Given the description of an element on the screen output the (x, y) to click on. 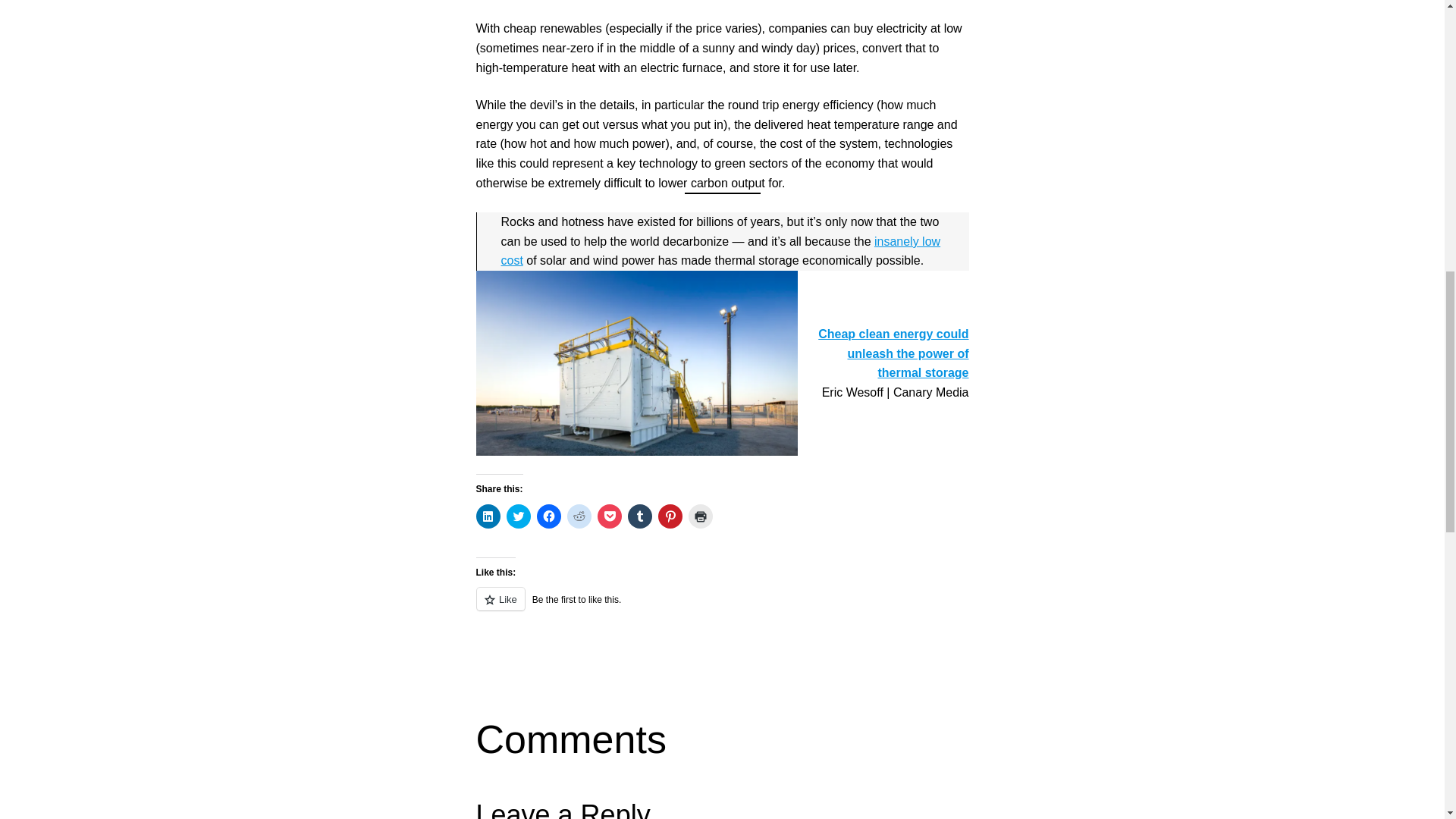
Click to share on Pocket (608, 516)
Click to share on Reddit (579, 516)
insanely low cost (720, 251)
Click to share on LinkedIn (488, 516)
Click to share on Pinterest (670, 516)
Like or Reblog (722, 607)
Click to print (700, 516)
Click to share on Tumblr (639, 516)
Click to share on Twitter (518, 516)
